Given the description of an element on the screen output the (x, y) to click on. 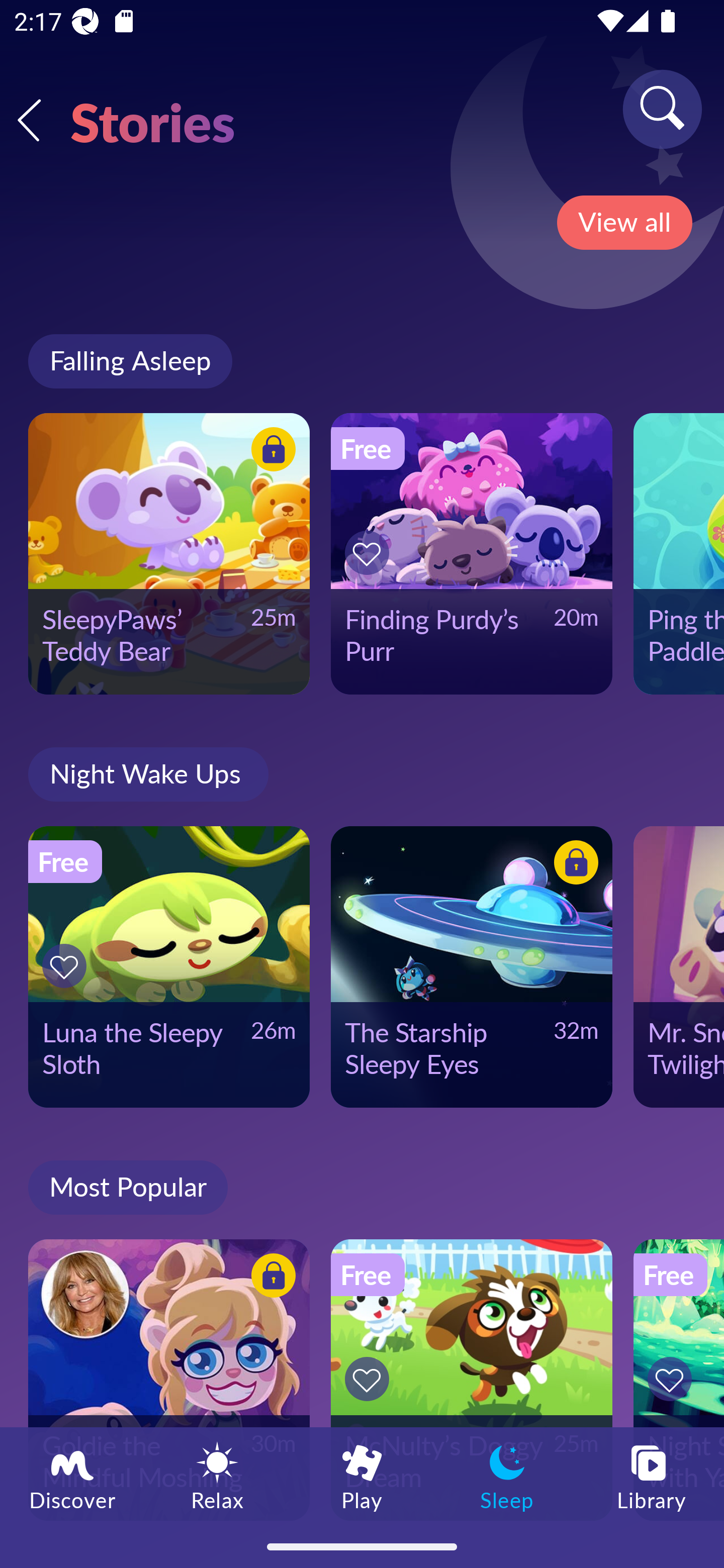
View all (624, 222)
Button (269, 451)
Button (369, 552)
Button (573, 865)
Button (67, 965)
Button (269, 1277)
Button (369, 1378)
Button (672, 1378)
Discover (72, 1475)
Relax (216, 1475)
Play (361, 1475)
Library (651, 1475)
